Given the description of an element on the screen output the (x, y) to click on. 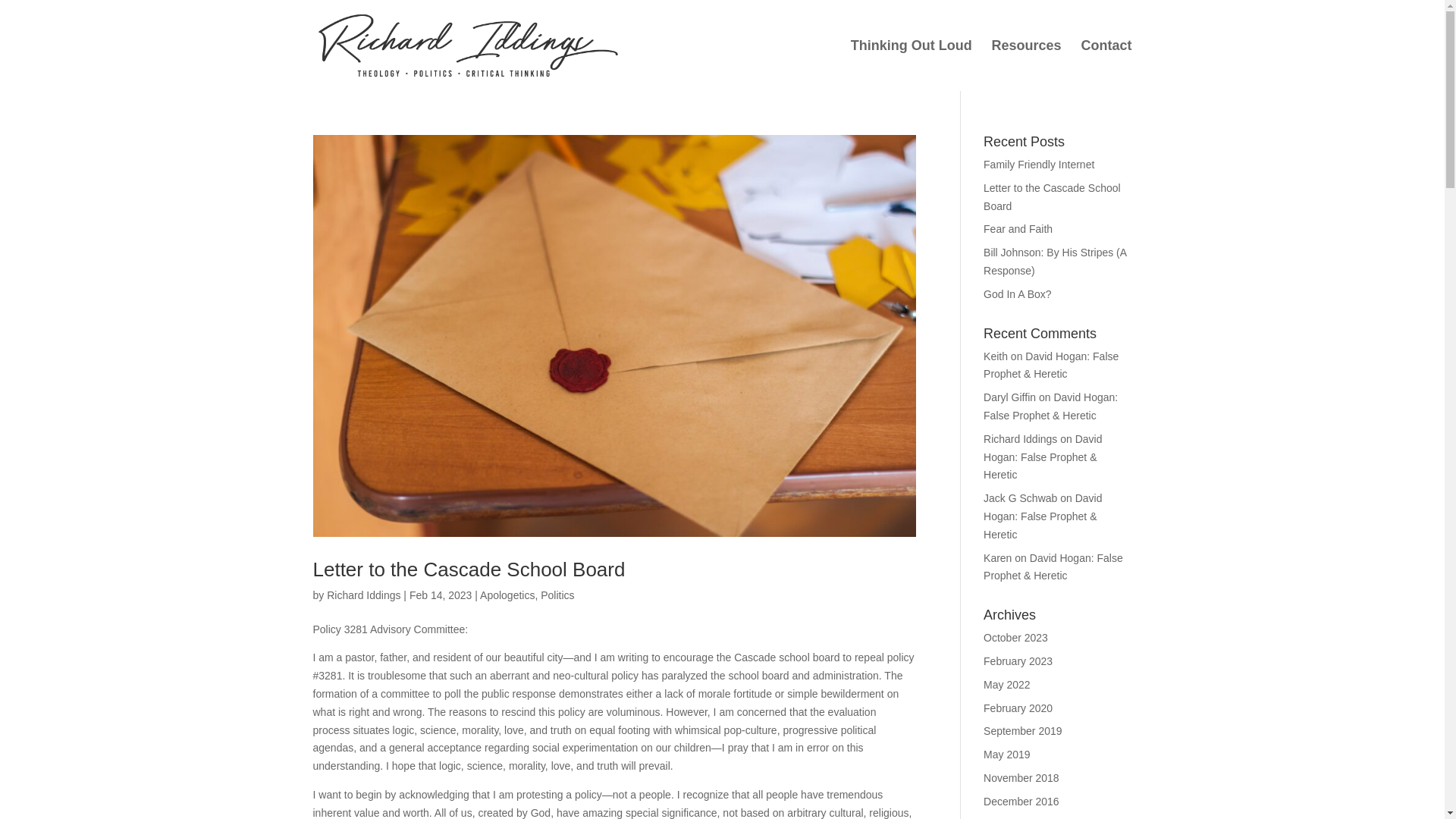
Family Friendly Internet (1039, 164)
Posts by Richard Iddings (363, 594)
Daryl Giffin (1009, 397)
Letter to the Cascade School Board (1052, 196)
Thinking Out Loud (911, 59)
Politics (556, 594)
Richard Iddings (363, 594)
Richard Iddings (1020, 439)
God In A Box? (1017, 294)
Letter to the Cascade School Board (468, 568)
Jack G Schwab (1020, 498)
Apologetics (507, 594)
October 2023 (1016, 637)
Contact (1106, 59)
Resources (1026, 59)
